Given the description of an element on the screen output the (x, y) to click on. 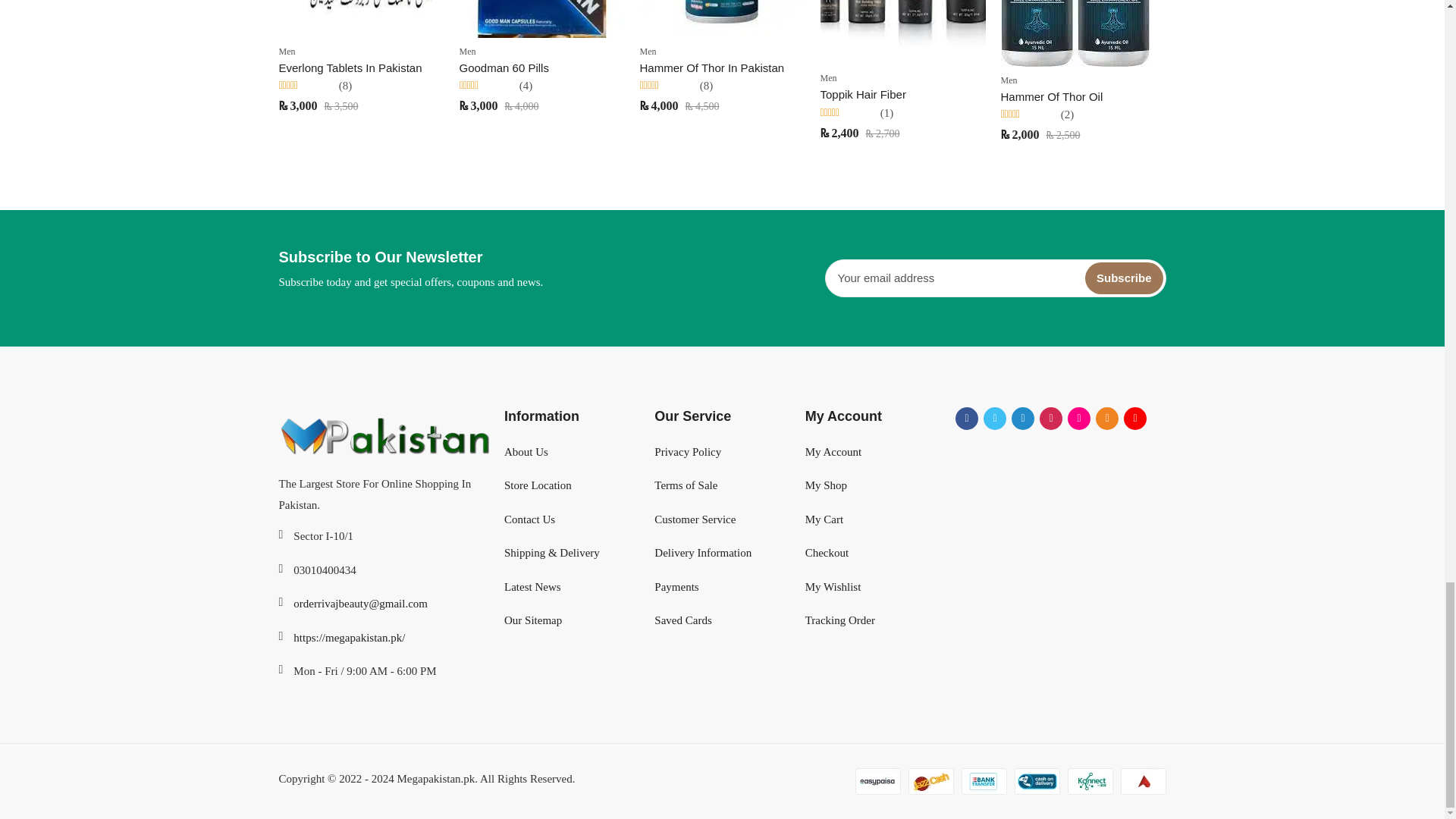
Subscribe (1123, 278)
